Given the description of an element on the screen output the (x, y) to click on. 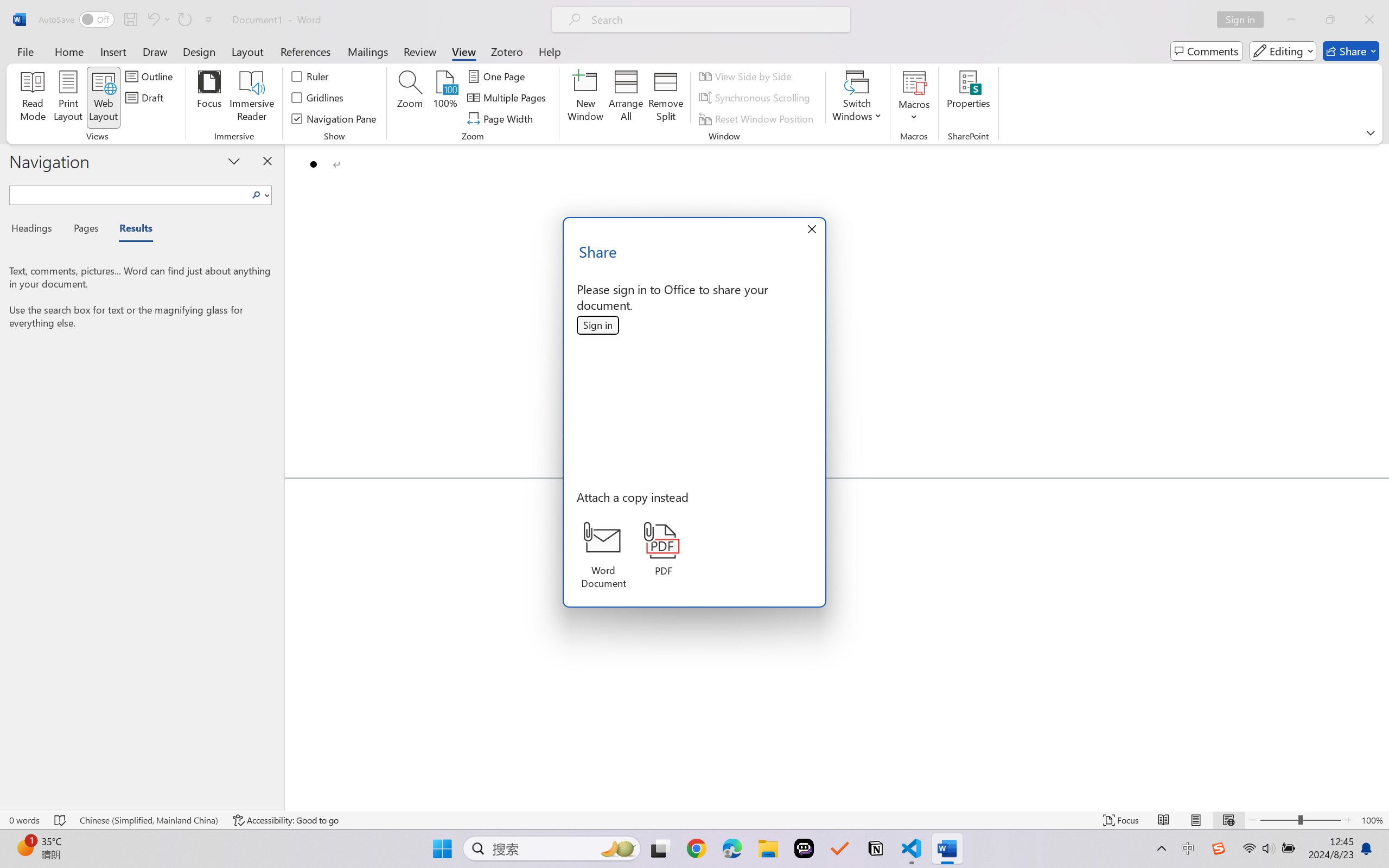
Ruler (309, 75)
Immersive Reader (251, 97)
Can't Repeat (184, 19)
Zoom 100% (1372, 819)
